Given the description of an element on the screen output the (x, y) to click on. 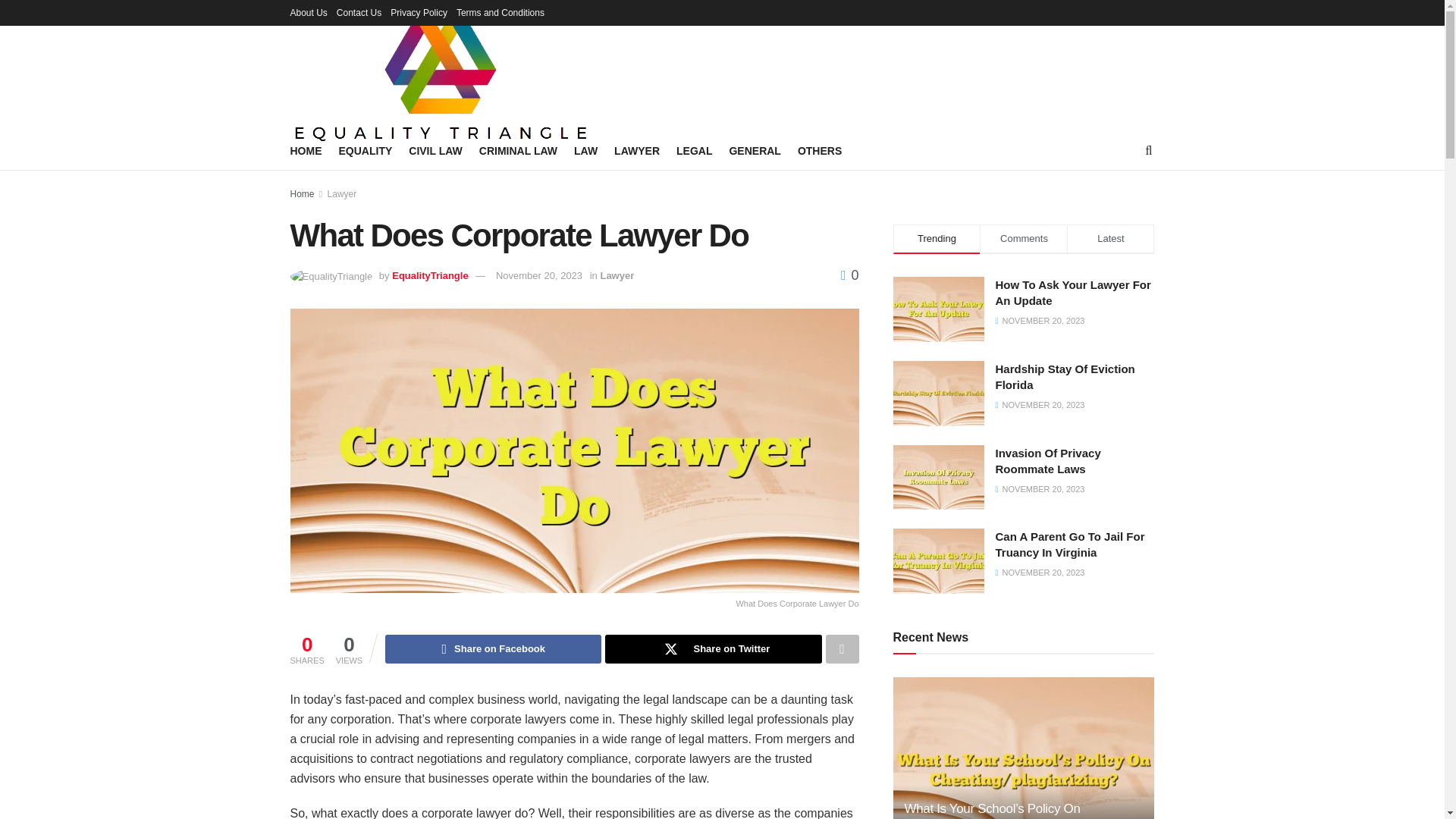
Contact Us (358, 12)
Share on Facebook (493, 648)
LAW (584, 150)
OTHERS (819, 150)
CIVIL LAW (436, 150)
GENERAL (754, 150)
Lawyer (616, 275)
EQUALITY (364, 150)
CRIMINAL LAW (518, 150)
Home (301, 194)
November 20, 2023 (539, 275)
Privacy Policy (418, 12)
Lawyer (341, 194)
Share on Twitter (713, 648)
